Given the description of an element on the screen output the (x, y) to click on. 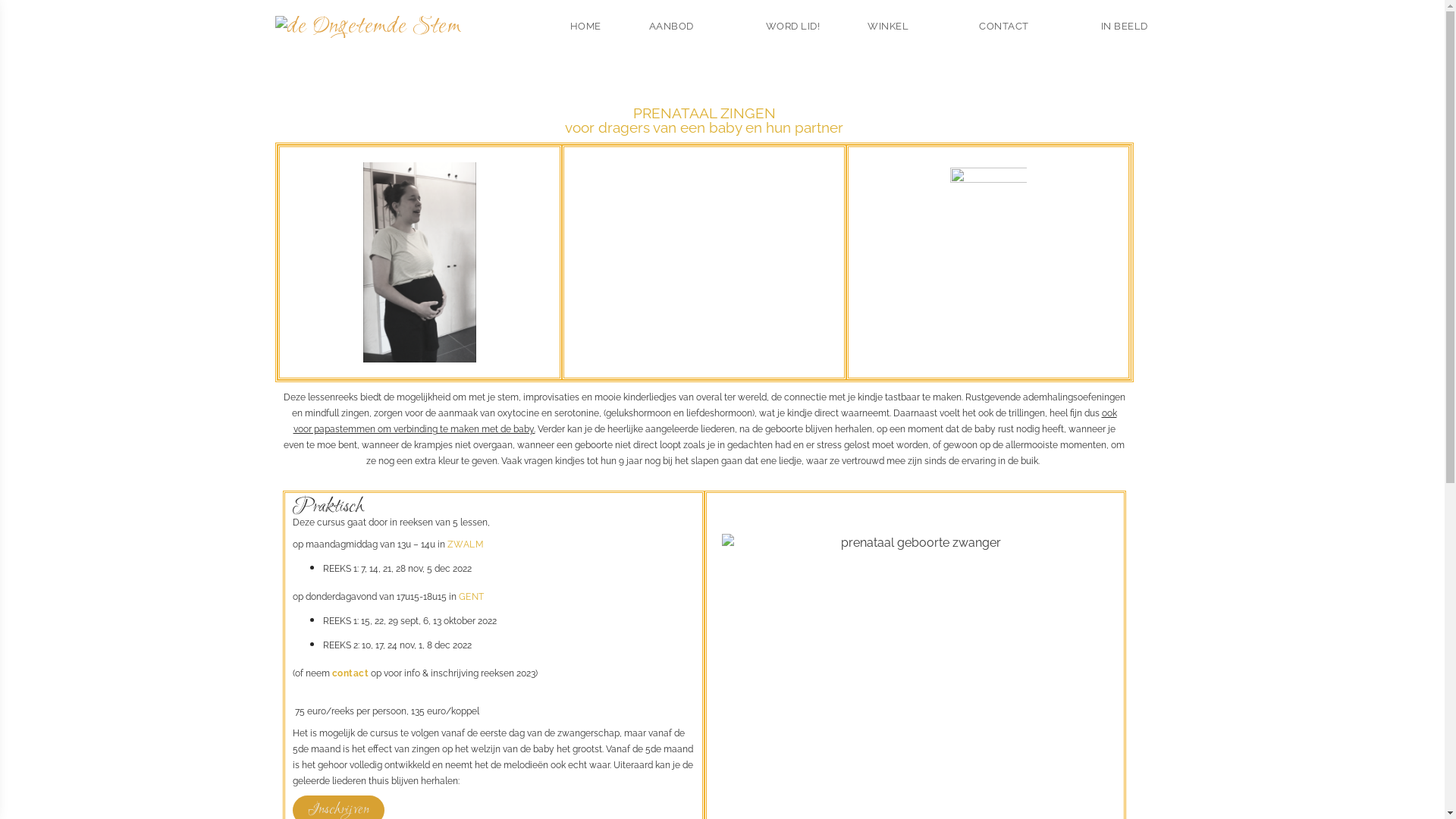
ZWALM Element type: text (465, 544)
HOME Element type: text (585, 26)
GENT Element type: text (470, 596)
WORD LID! Element type: text (792, 26)
WINKEL Element type: text (899, 26)
IN BEELD Element type: text (1123, 26)
contact Element type: text (350, 673)
CONTACT Element type: text (1015, 26)
AANBOD Element type: text (682, 26)
